Given the description of an element on the screen output the (x, y) to click on. 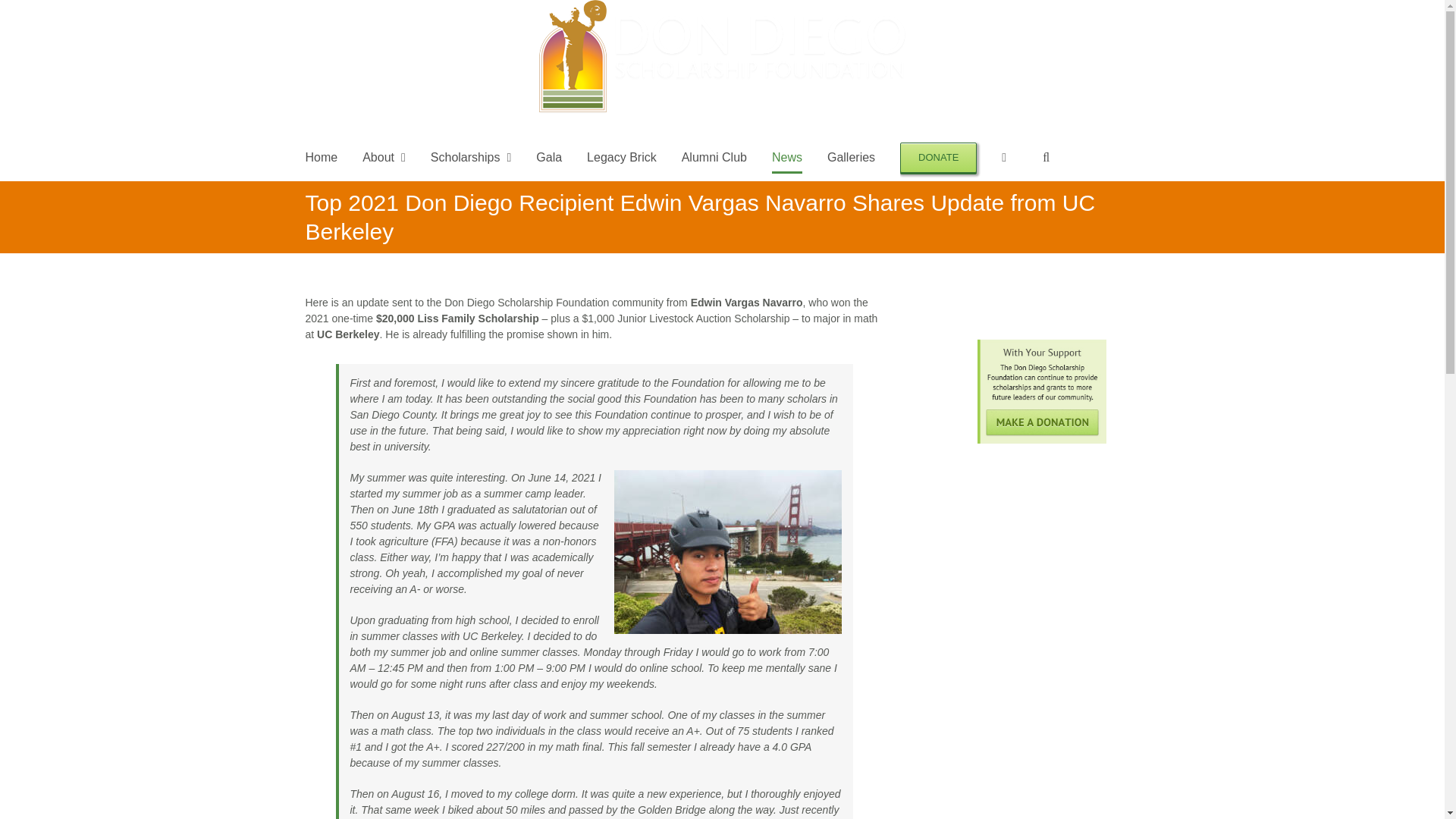
Search (1045, 157)
Galleries (851, 157)
Legacy Brick (621, 157)
Home (320, 157)
Scholarships (470, 157)
News (786, 157)
DONATE (937, 157)
Gala (548, 157)
About (384, 157)
Alumni Club (713, 157)
